Given the description of an element on the screen output the (x, y) to click on. 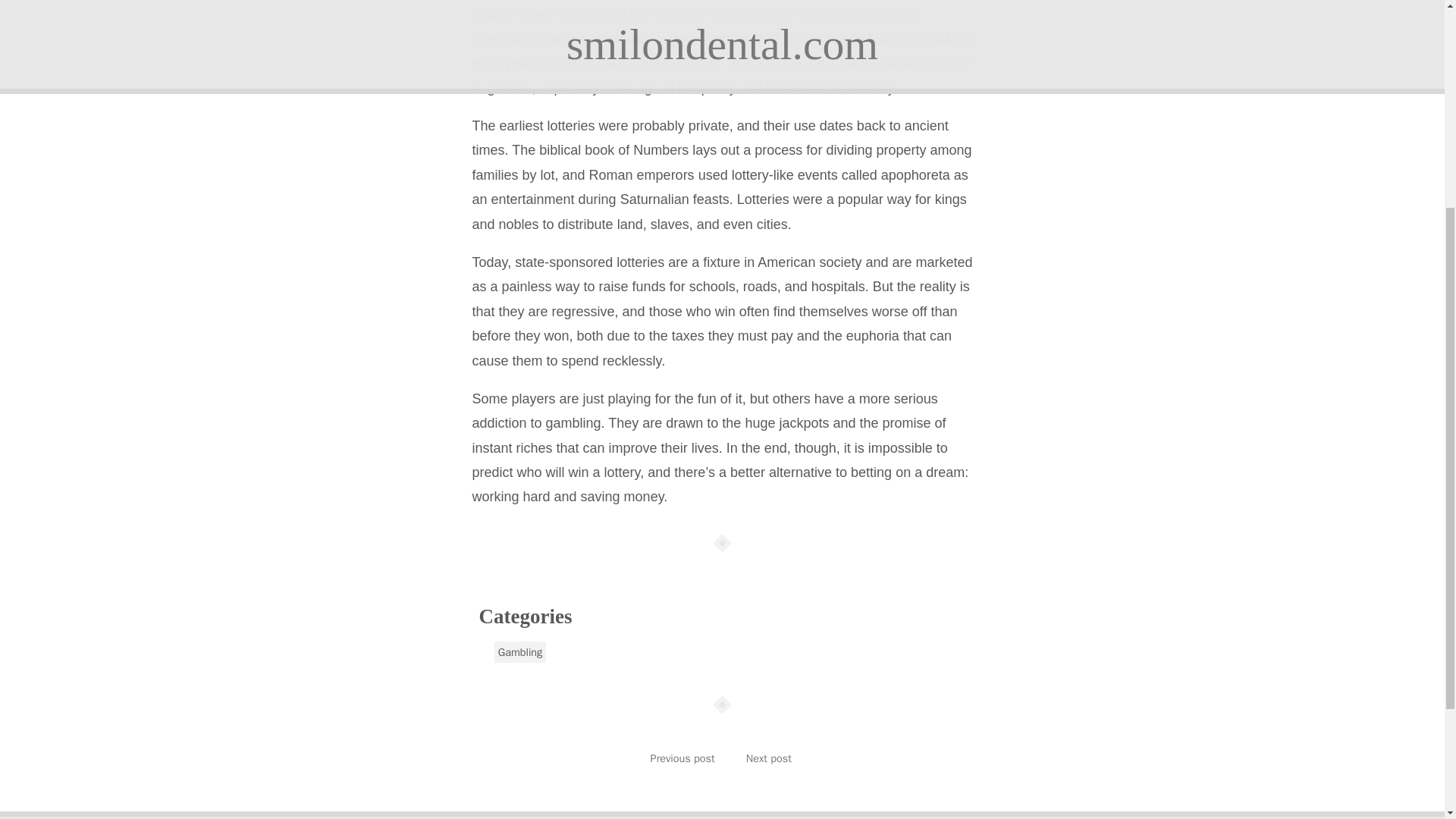
Next post (768, 757)
Gambling (521, 651)
Previous post (682, 757)
